Given the description of an element on the screen output the (x, y) to click on. 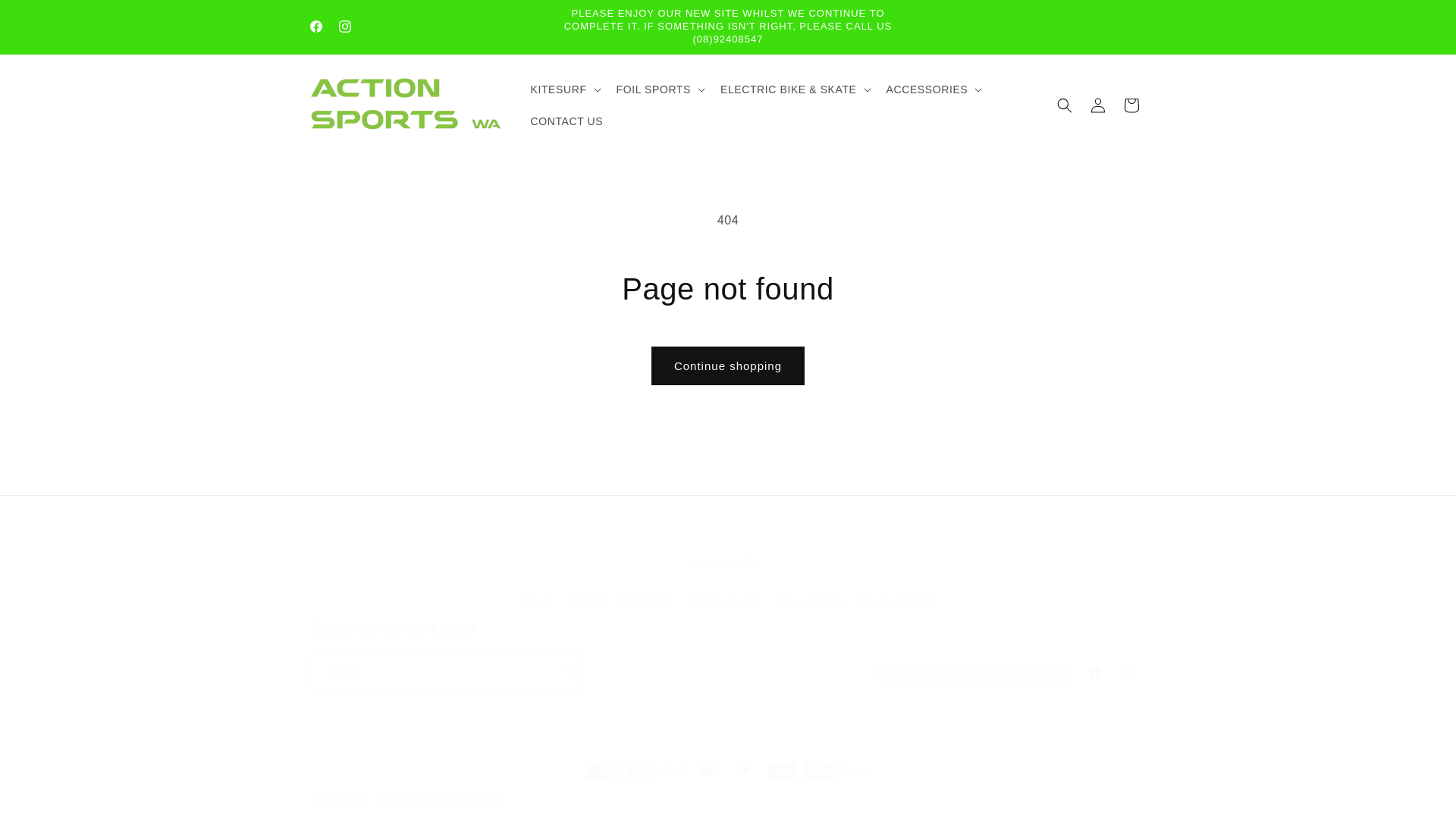
Instagram (344, 26)
Skip to content (47, 18)
Facebook (315, 26)
